Given the description of an element on the screen output the (x, y) to click on. 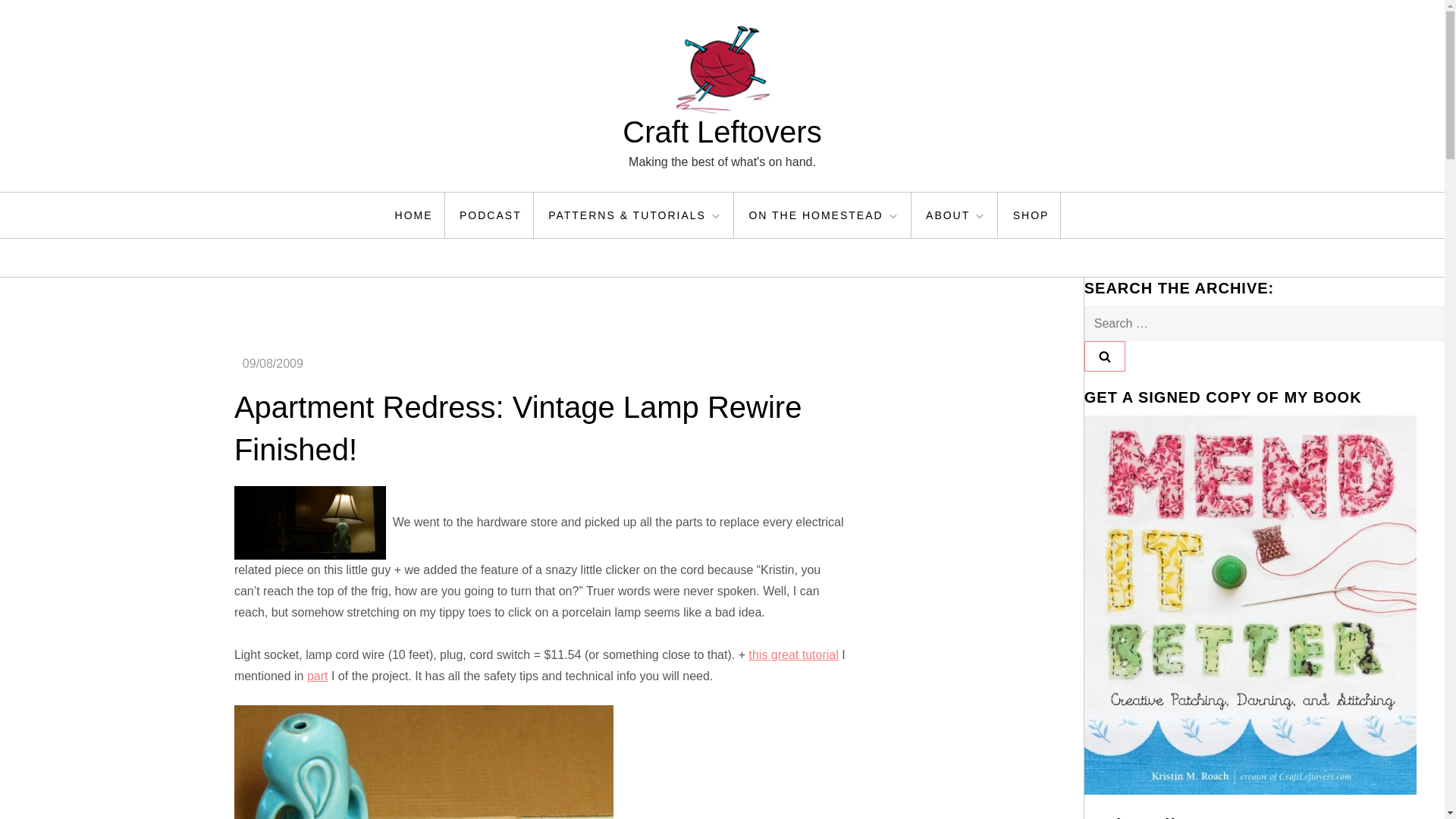
this great tutorial (793, 654)
HOME (414, 215)
SHOP (1031, 215)
part (318, 675)
PODCAST (491, 215)
ABOUT (955, 215)
ON THE HOMESTEAD (823, 215)
Craft Leftovers (722, 131)
